Given the description of an element on the screen output the (x, y) to click on. 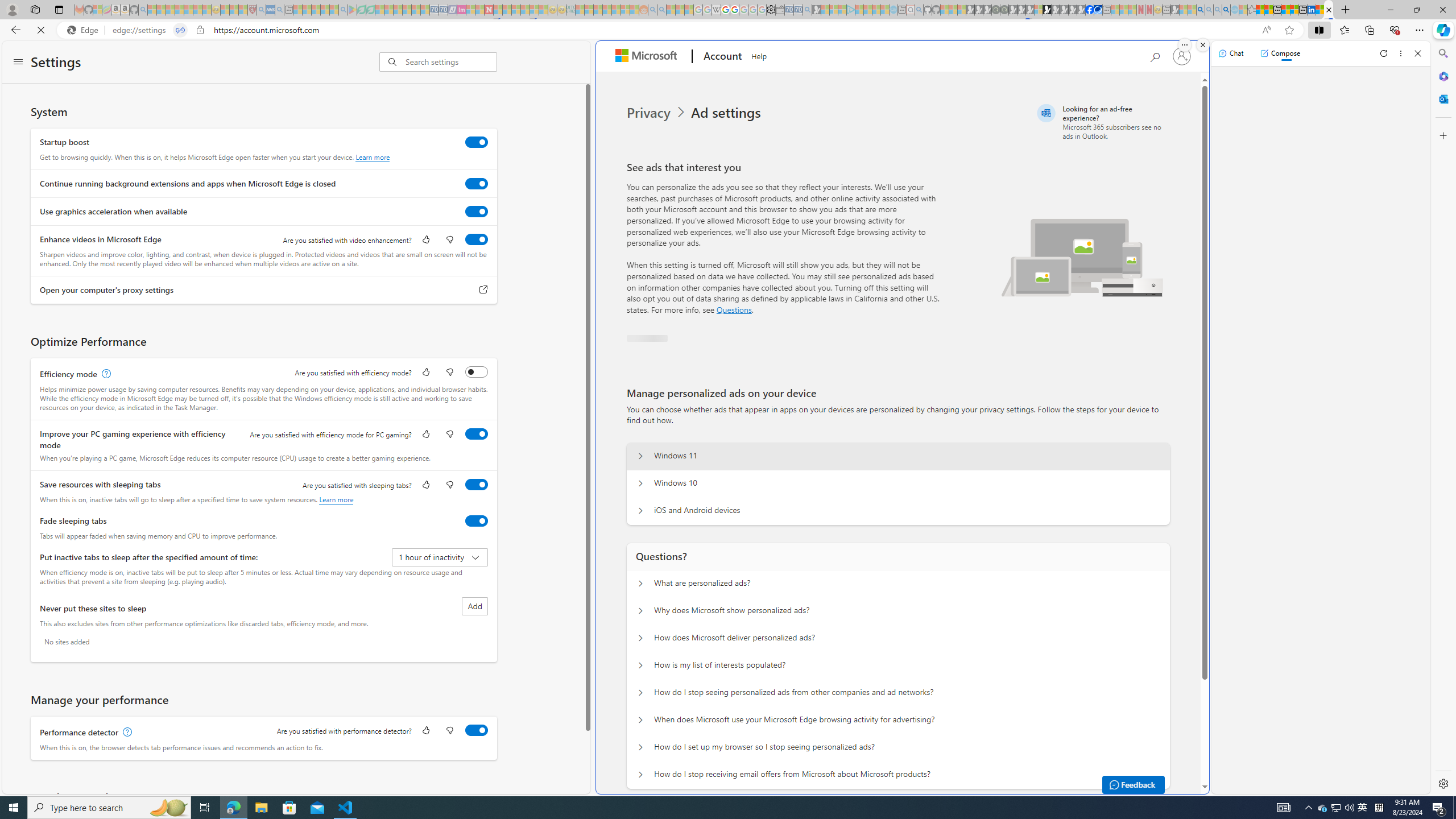
Use graphics acceleration when available (476, 211)
Target page - Wikipedia - Sleeping (716, 9)
Kinda Frugal - MSN - Sleeping (616, 9)
